Given the description of an element on the screen output the (x, y) to click on. 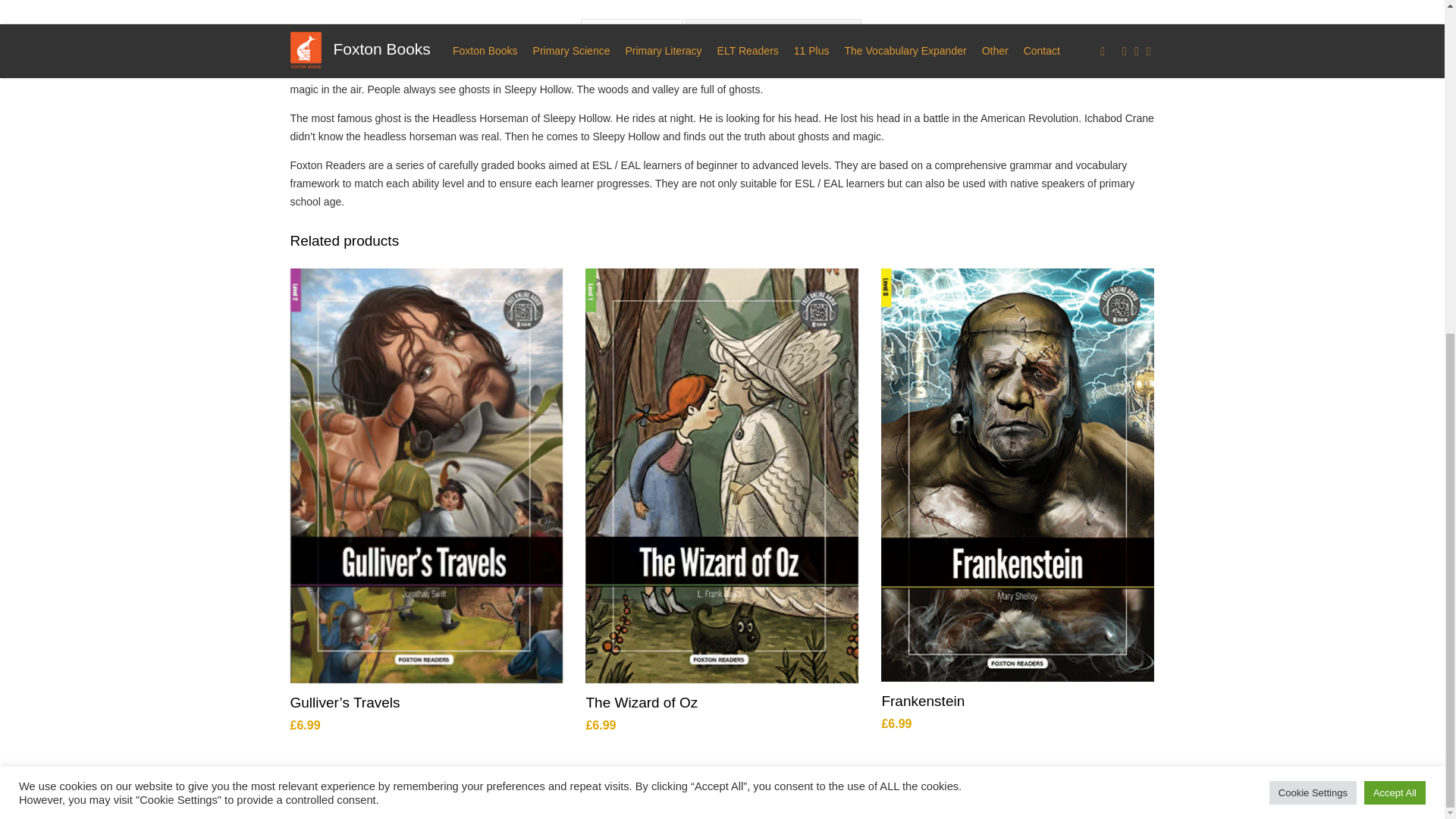
Accept All (1394, 236)
ADDITIONAL INFORMATION (773, 32)
Cookie Settings (1312, 236)
DESCRIPTION (631, 32)
